Given the description of an element on the screen output the (x, y) to click on. 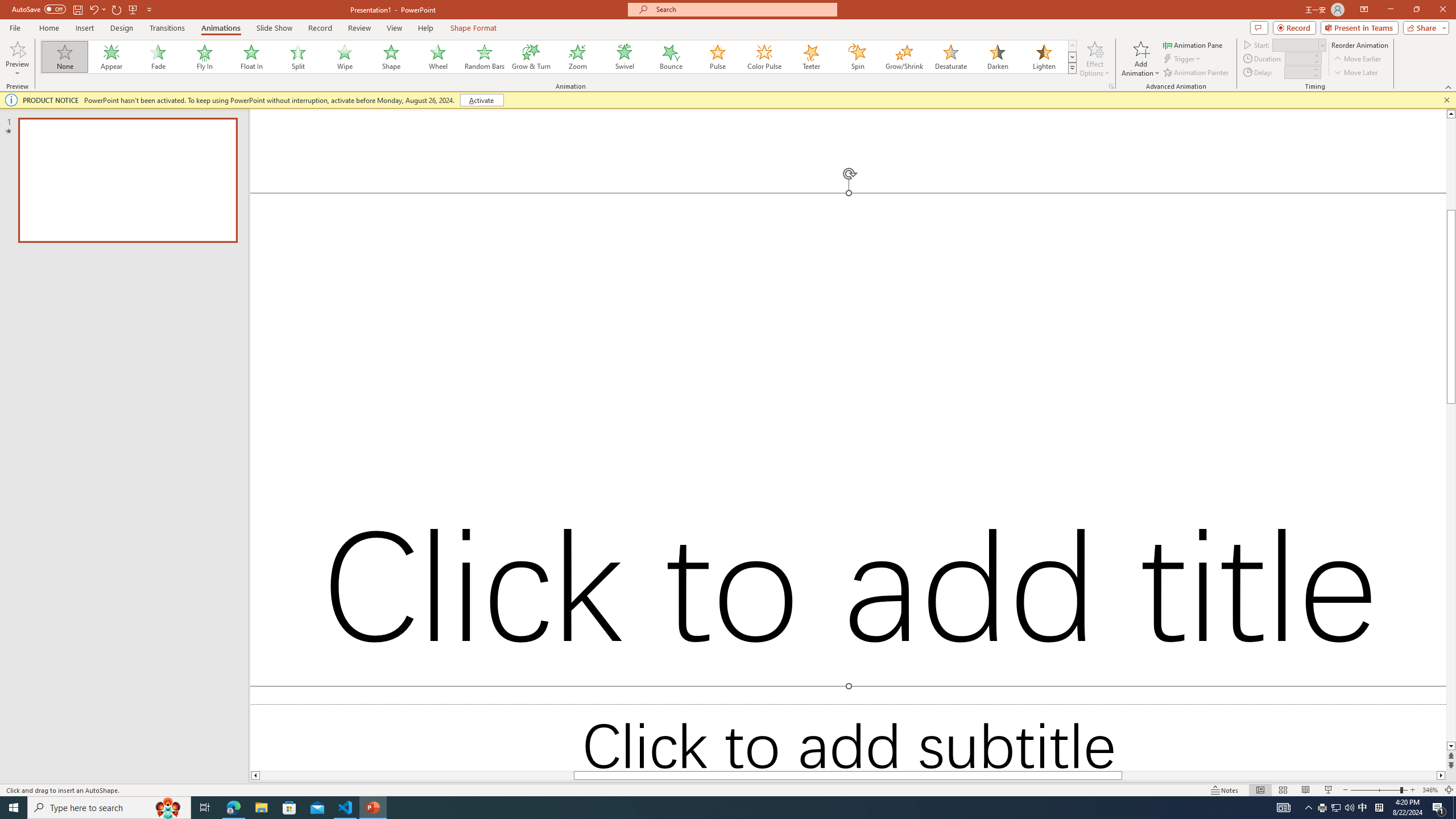
Teeter (810, 56)
Split (298, 56)
Grow & Turn (531, 56)
Appear (111, 56)
Lighten (1043, 56)
Close this message (1446, 99)
Spin (857, 56)
Animation Pane (1193, 44)
More (1315, 69)
None (65, 56)
Less (1315, 75)
